Given the description of an element on the screen output the (x, y) to click on. 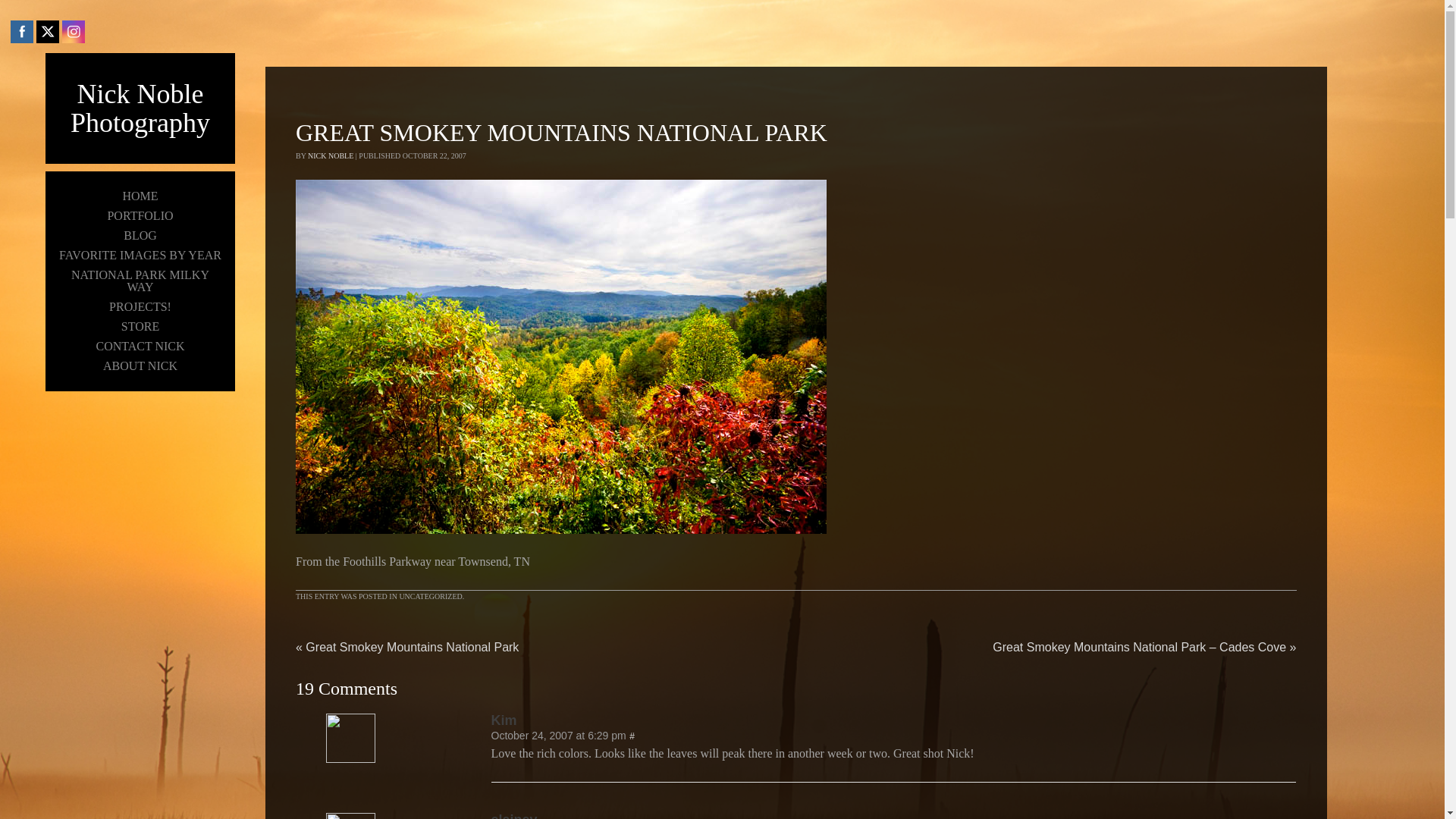
PORTFOLIO (139, 216)
Comment Author (894, 720)
CONTACT NICK (139, 346)
Nick Noble Photography (139, 108)
ABOUT NICK (139, 365)
STORE (139, 326)
Comment Author (350, 758)
BLOG (139, 235)
NICK NOBLE (330, 155)
